Given the description of an element on the screen output the (x, y) to click on. 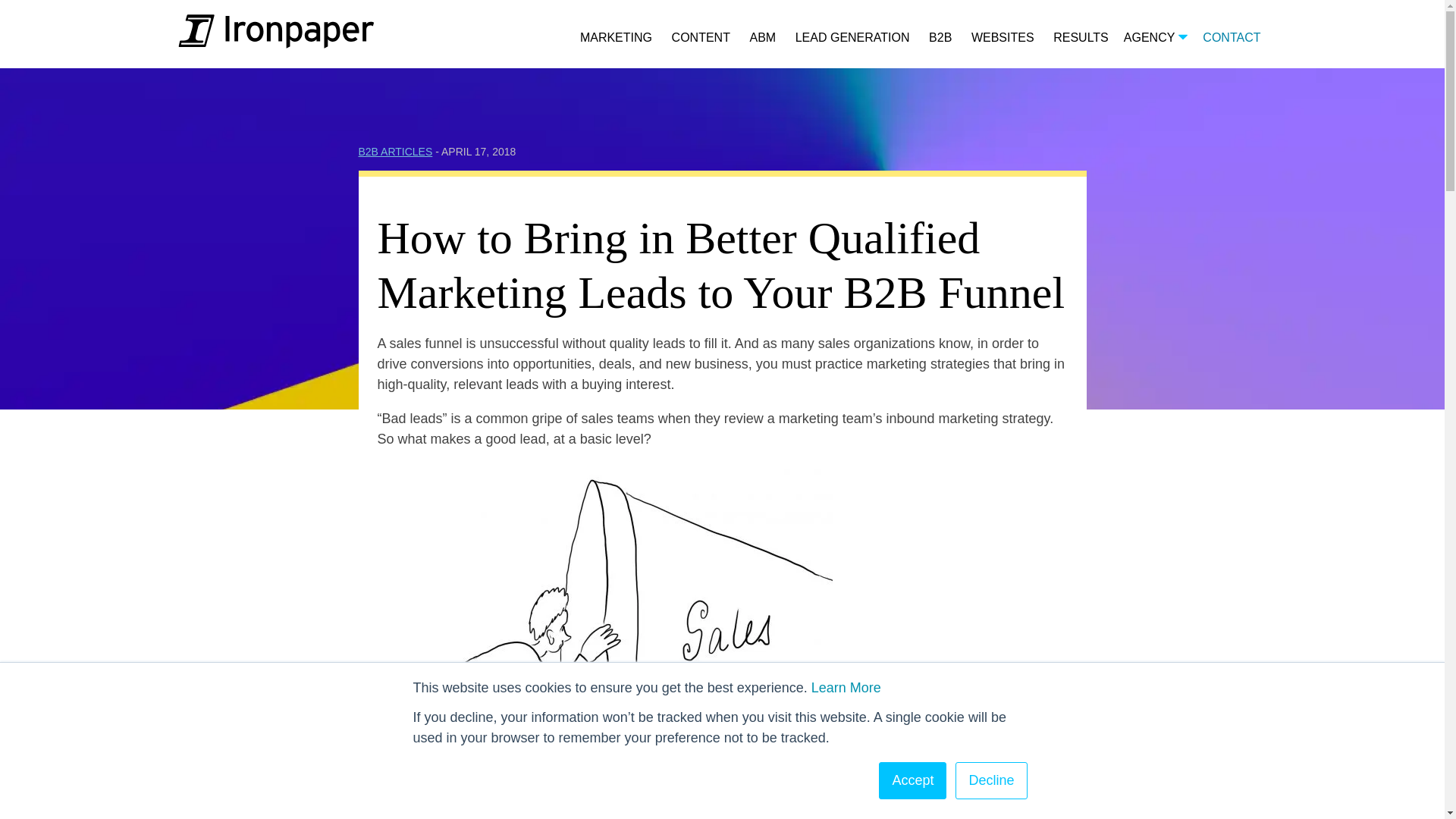
Learn More (845, 687)
CONTACT (1231, 37)
B2B (940, 37)
MARKETING (615, 37)
AGENCY (1156, 37)
B2B ARTICLES (395, 151)
WEBSITES (1002, 37)
RESULTS (1080, 37)
Accept (912, 780)
CONTENT (700, 37)
Decline (990, 780)
LEAD GENERATION (852, 37)
ABM (762, 37)
